Given the description of an element on the screen output the (x, y) to click on. 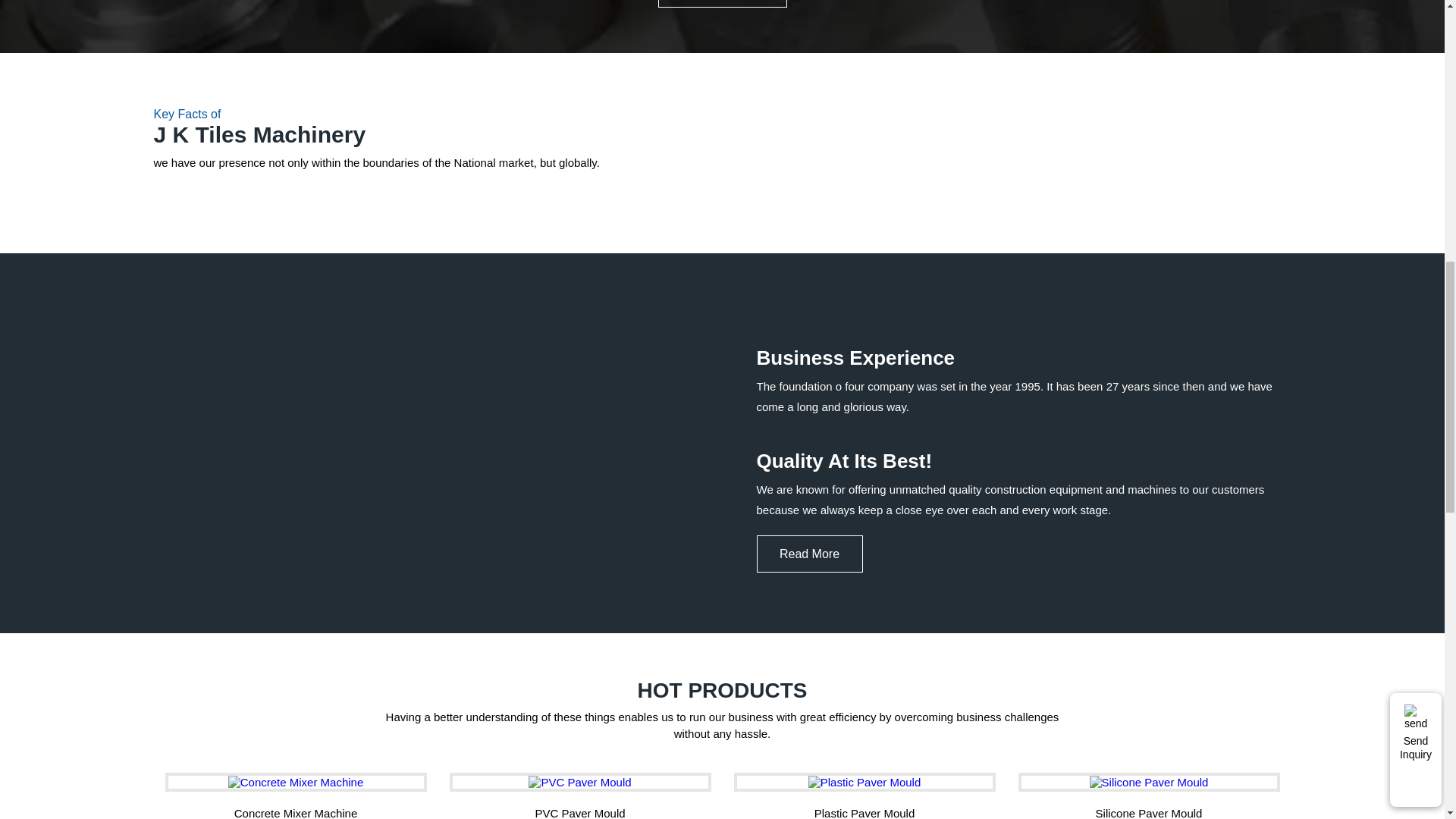
Plastic Paver Mould (864, 781)
PVC Paver Mould (579, 781)
Concrete Mixer Machine (296, 781)
Silicone Paver Mould (1148, 781)
